Given the description of an element on the screen output the (x, y) to click on. 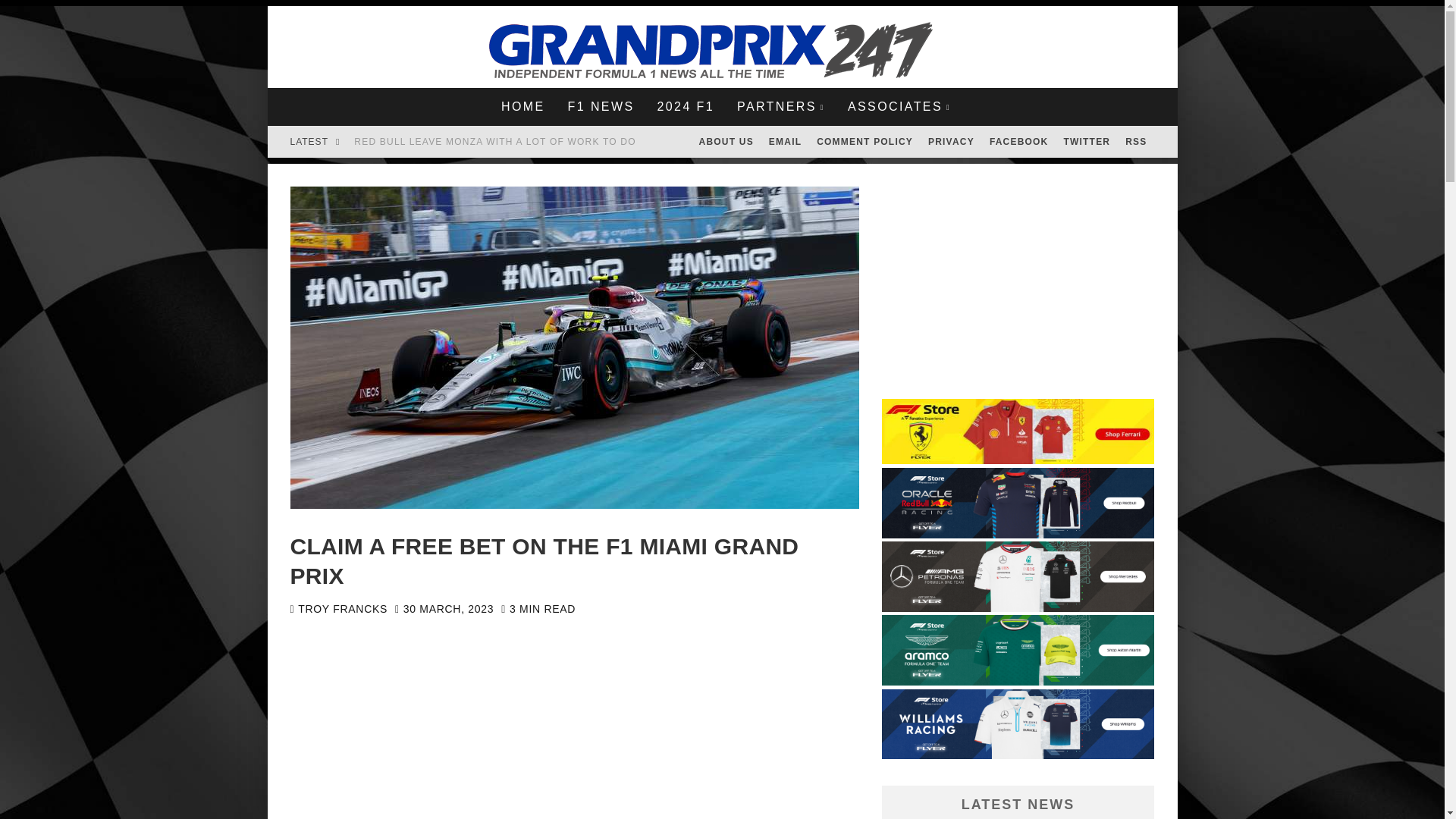
PRIVACY (950, 142)
FACEBOOK (1019, 142)
Red Bull leave Monza with a lot of work to do (493, 141)
Twitter GrandPrix247 (1086, 142)
PARTNERS (780, 106)
HOME (522, 106)
ABOUT US (726, 142)
F1 NEWS (601, 106)
RSS (1136, 142)
TWITTER (1086, 142)
